Given the description of an element on the screen output the (x, y) to click on. 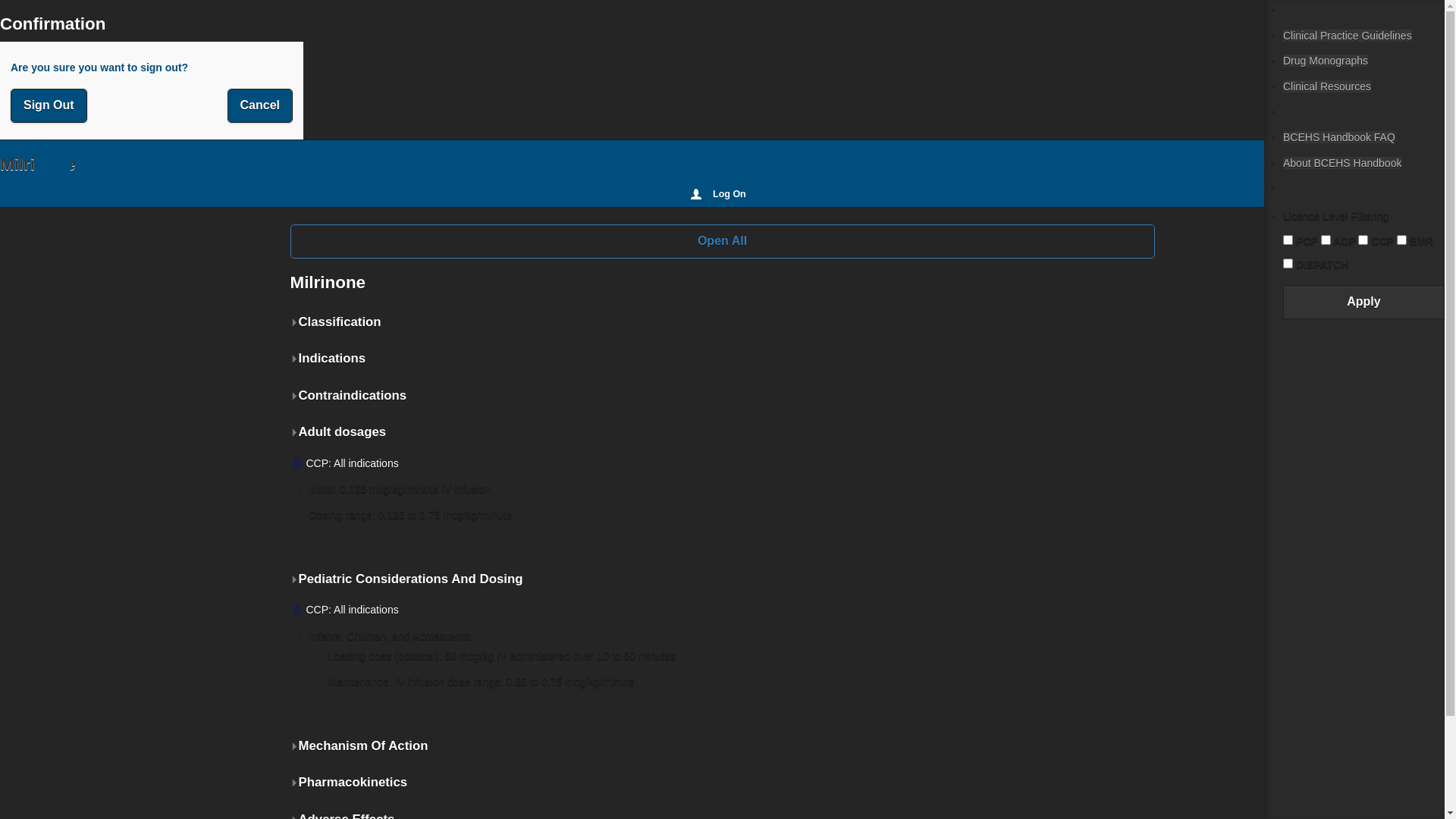
Open All Element type: text (721, 241)
Clinical Practice Guidelines Element type: text (1347, 35)
About BCEHS Handbook Element type: text (1342, 162)
Apply Element type: text (1363, 302)
Cancel Element type: text (259, 105)
Log On Element type: text (721, 194)
BCEHS Handbook FAQ Element type: text (1339, 137)
Clinical Resources Element type: text (1327, 86)
Sign Out Element type: text (48, 105)
Drug Monographs Element type: text (1325, 60)
